Given the description of an element on the screen output the (x, y) to click on. 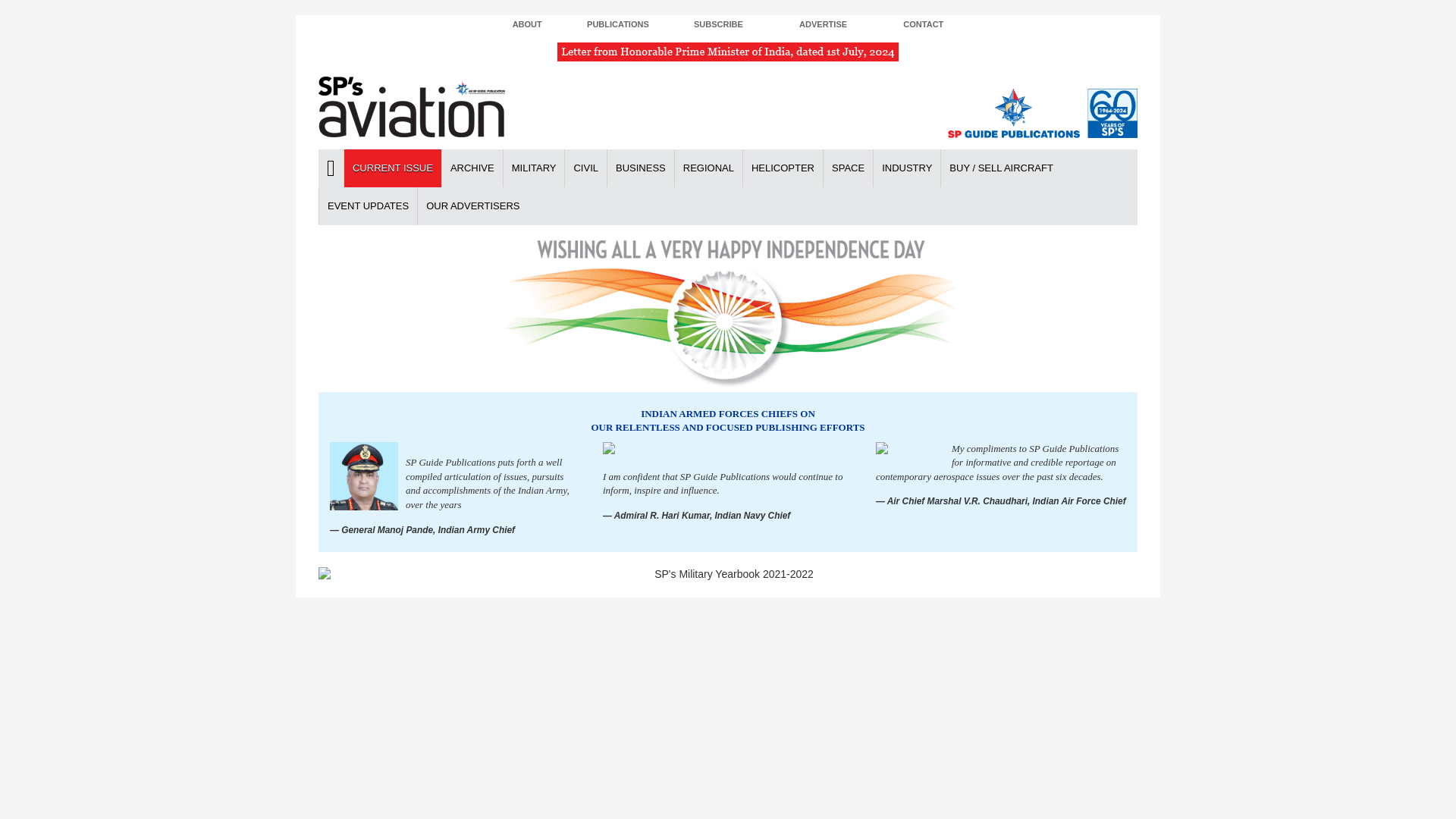
CONTACT (922, 25)
SUBSCRIBE (718, 25)
INDUSTRY (906, 168)
BUSINESS (640, 168)
SPACE (847, 168)
CIVIL (585, 168)
REGIONAL (708, 168)
MILITARY (533, 168)
CURRENT ISSUE (392, 168)
ADVERTISE (823, 25)
